Given the description of an element on the screen output the (x, y) to click on. 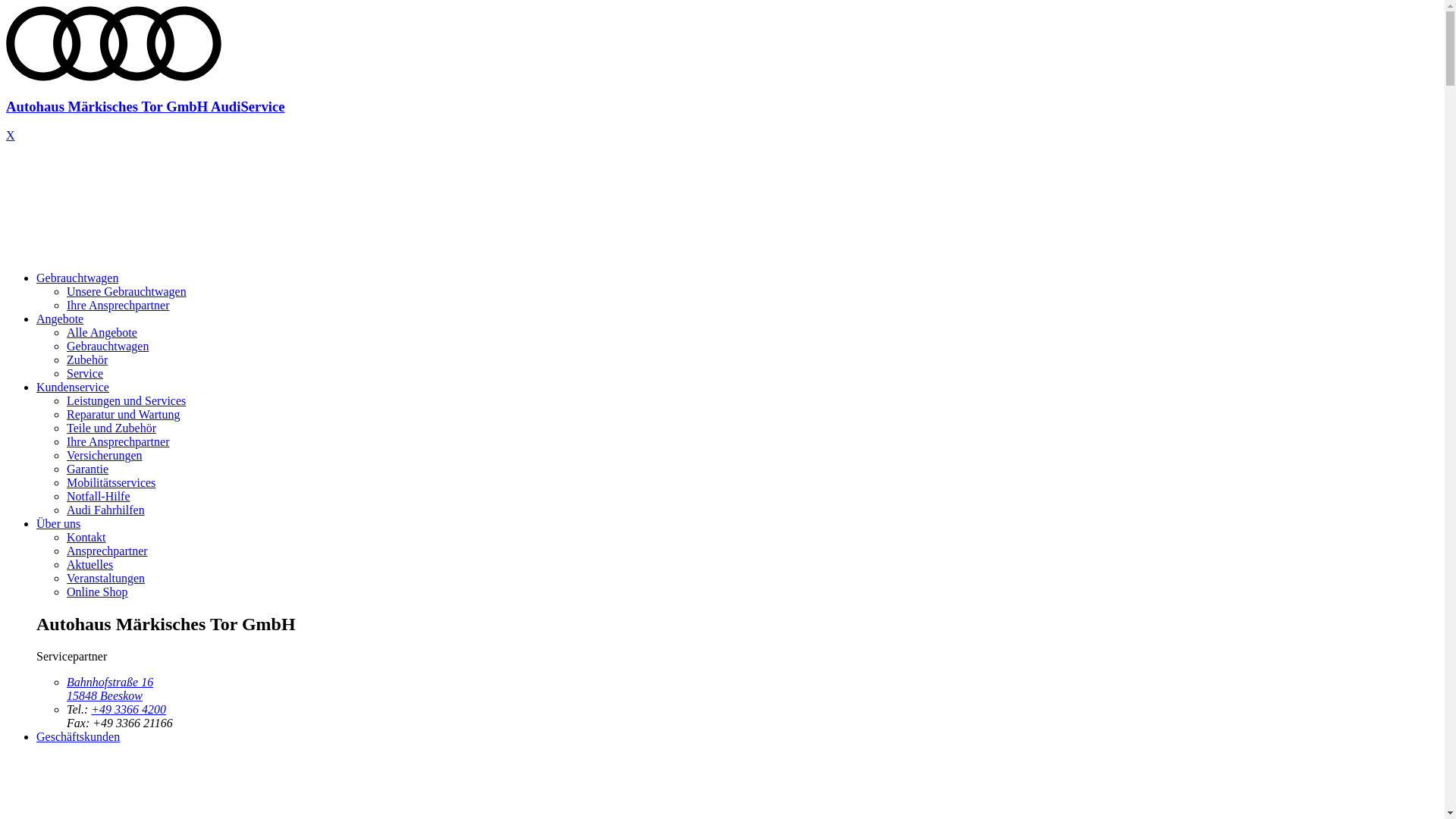
Reparatur und Wartung Element type: text (122, 413)
Ansprechpartner Element type: text (106, 550)
Angebote Element type: text (59, 318)
Unsere Gebrauchtwagen Element type: text (126, 291)
Online Shop Element type: text (96, 591)
Gebrauchtwagen Element type: text (107, 345)
Ihre Ansprechpartner Element type: text (117, 304)
Kontakt Element type: text (86, 536)
Aktuelles Element type: text (89, 564)
+49 3366 4200 Element type: text (128, 708)
Audi Fahrhilfen Element type: text (105, 509)
Notfall-Hilfe Element type: text (98, 495)
Alle Angebote Element type: text (101, 332)
Garantie Element type: text (87, 468)
Leistungen und Services Element type: text (125, 400)
Ihre Ansprechpartner Element type: text (117, 441)
Versicherungen Element type: text (104, 454)
Gebrauchtwagen Element type: text (77, 277)
Kundenservice Element type: text (72, 386)
Veranstaltungen Element type: text (105, 577)
Service Element type: text (84, 373)
X Element type: text (10, 134)
